Given the description of an element on the screen output the (x, y) to click on. 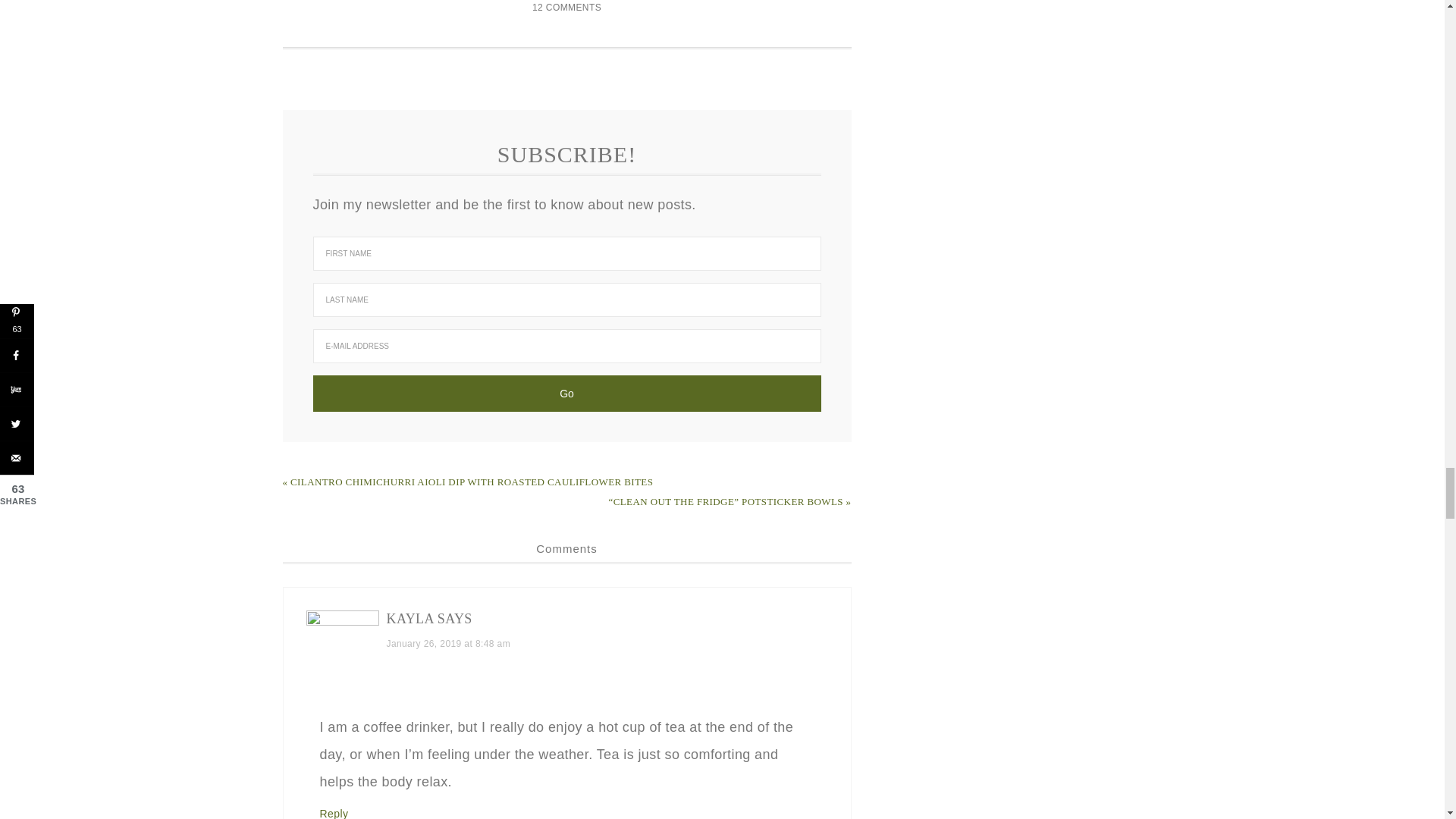
Go (567, 393)
